Given the description of an element on the screen output the (x, y) to click on. 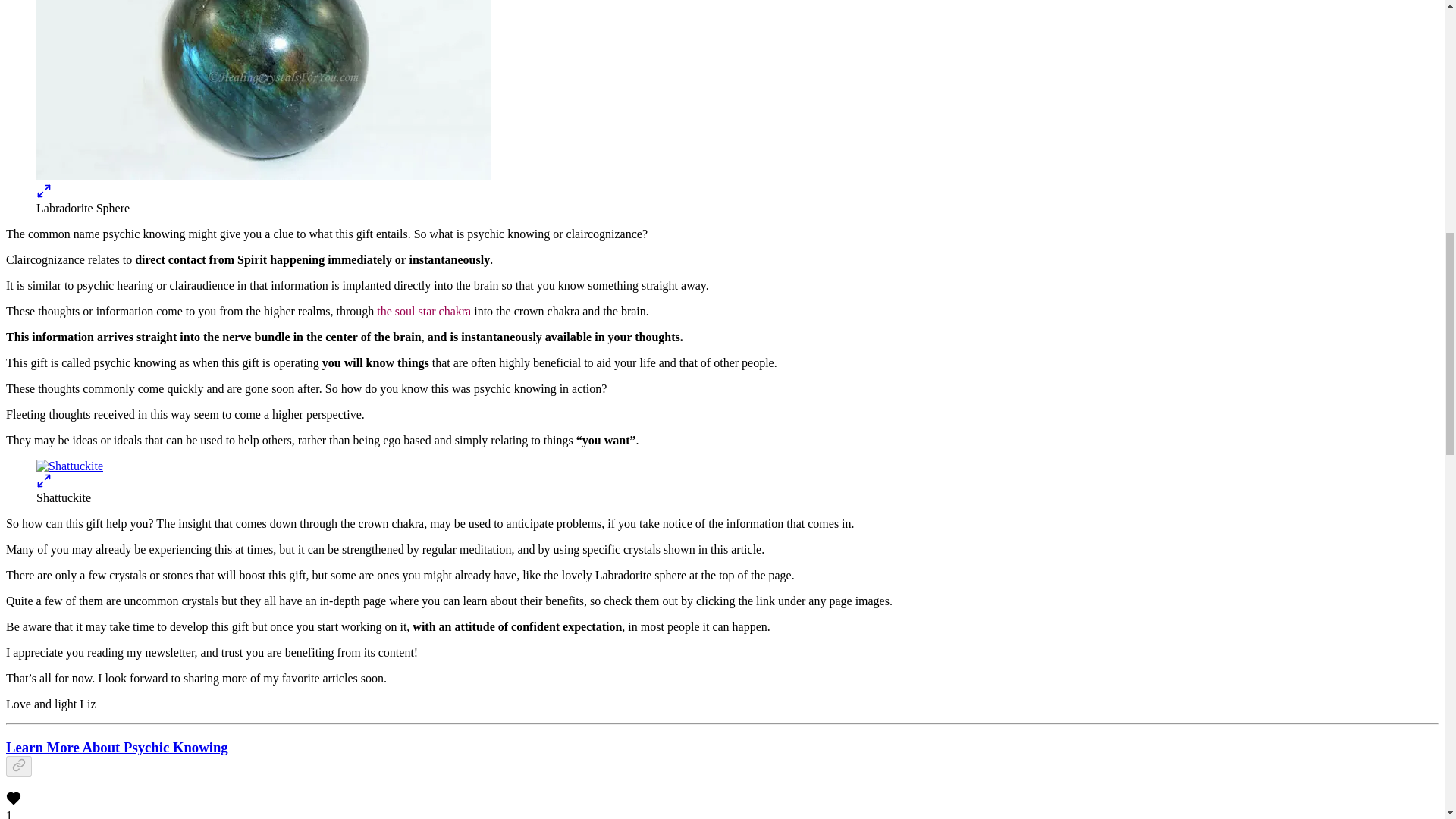
Learn More About Psychic Knowing (116, 747)
Labradorite Sphere (264, 90)
Shattuckite (69, 466)
the soul star chakra (423, 310)
